Given the description of an element on the screen output the (x, y) to click on. 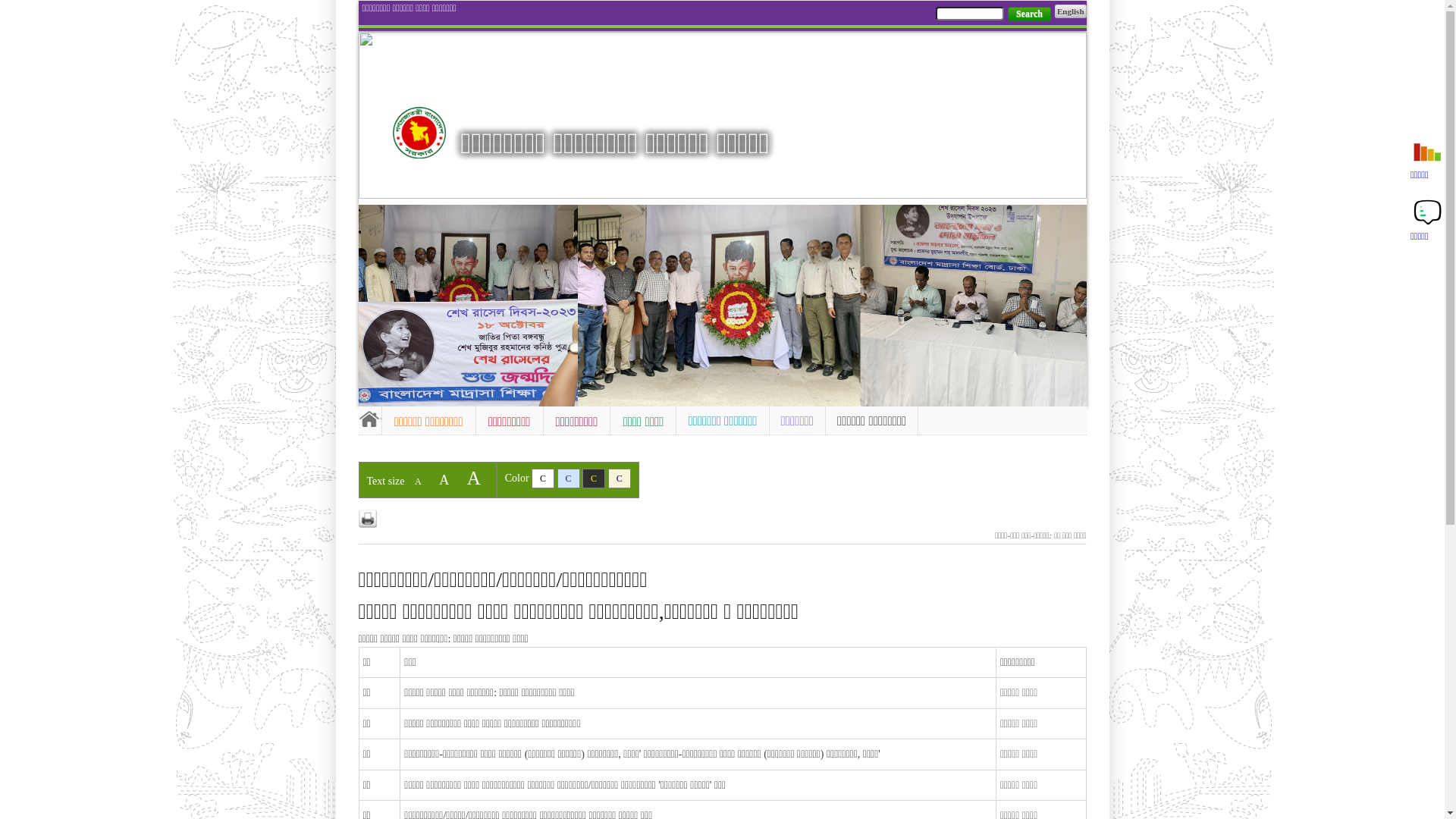
Home Element type: hover (418, 132)
English Element type: text (1069, 11)
C Element type: text (568, 478)
Home Element type: hover (368, 418)
C Element type: text (593, 478)
A Element type: text (473, 478)
A Element type: text (443, 479)
Search Element type: text (1029, 13)
C Element type: text (542, 478)
C Element type: text (619, 478)
A Element type: text (418, 481)
